Given the description of an element on the screen output the (x, y) to click on. 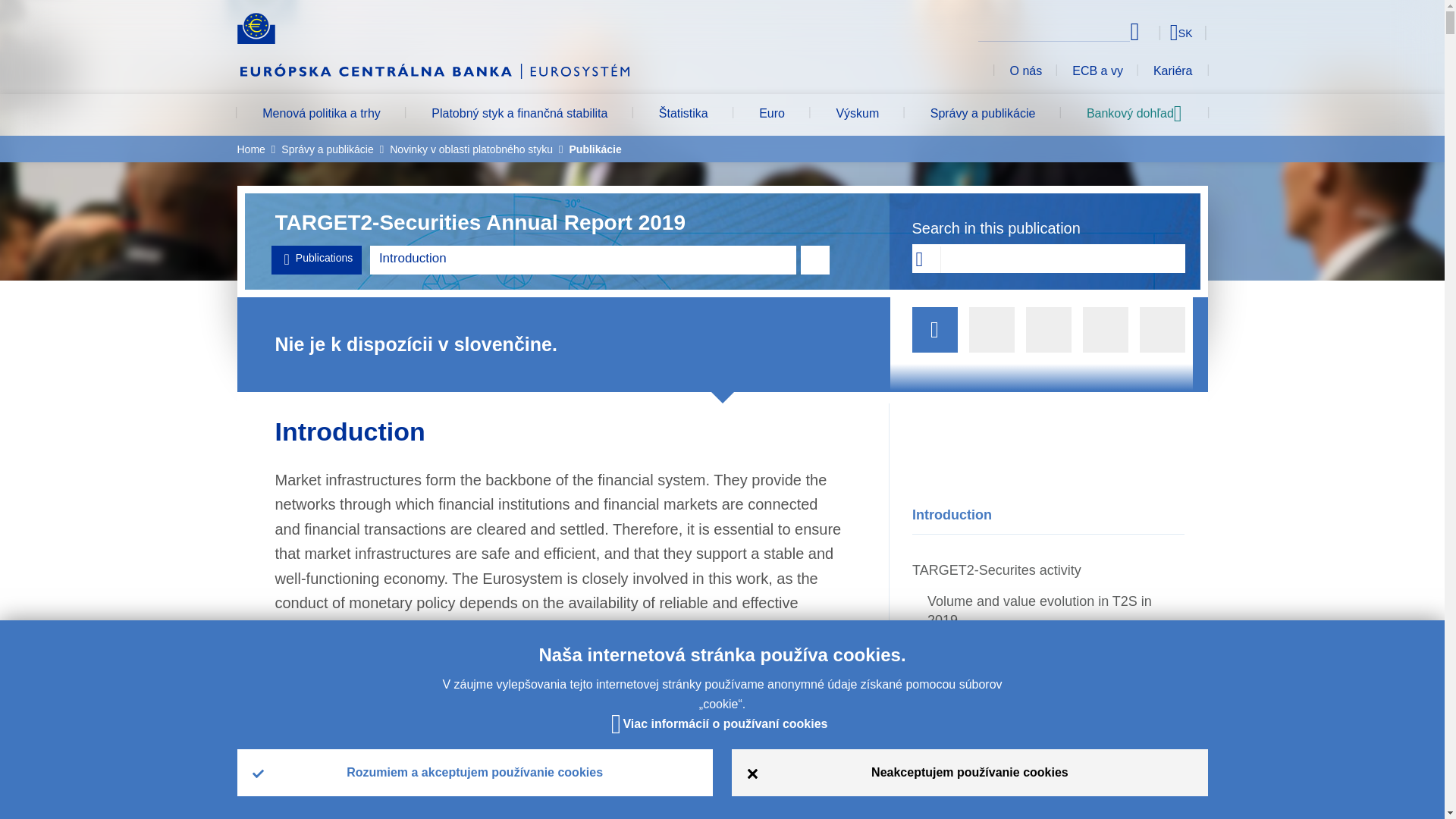
Select language (1153, 32)
